Given the description of an element on the screen output the (x, y) to click on. 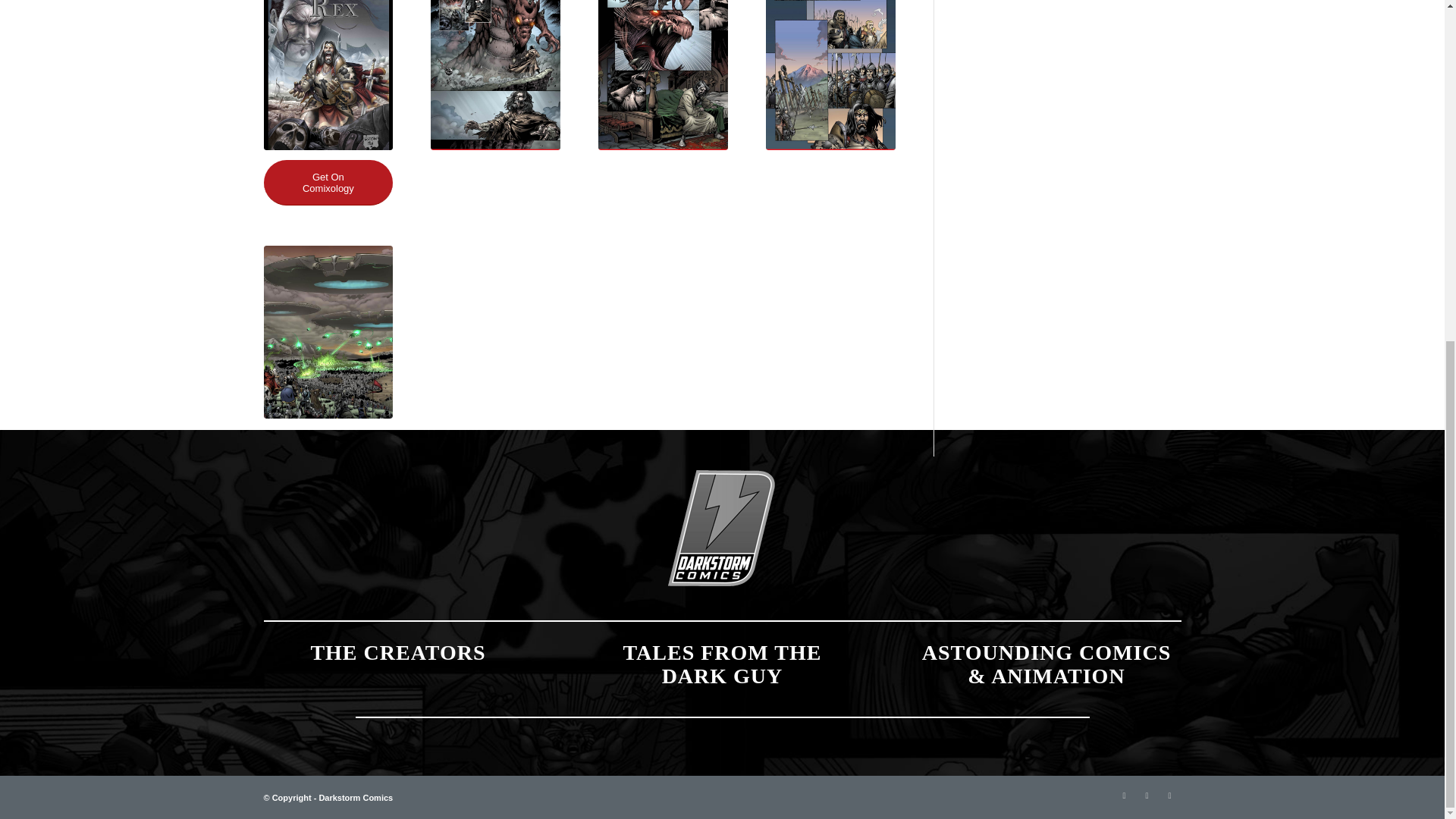
Facebook (1146, 794)
Instagram (1169, 794)
alius-rex4 (663, 74)
alius-rex5 (495, 74)
alius-rex3 (328, 331)
dark-storm-logo-new (722, 529)
Twitter (1124, 794)
alius-rex2 (830, 74)
